Given the description of an element on the screen output the (x, y) to click on. 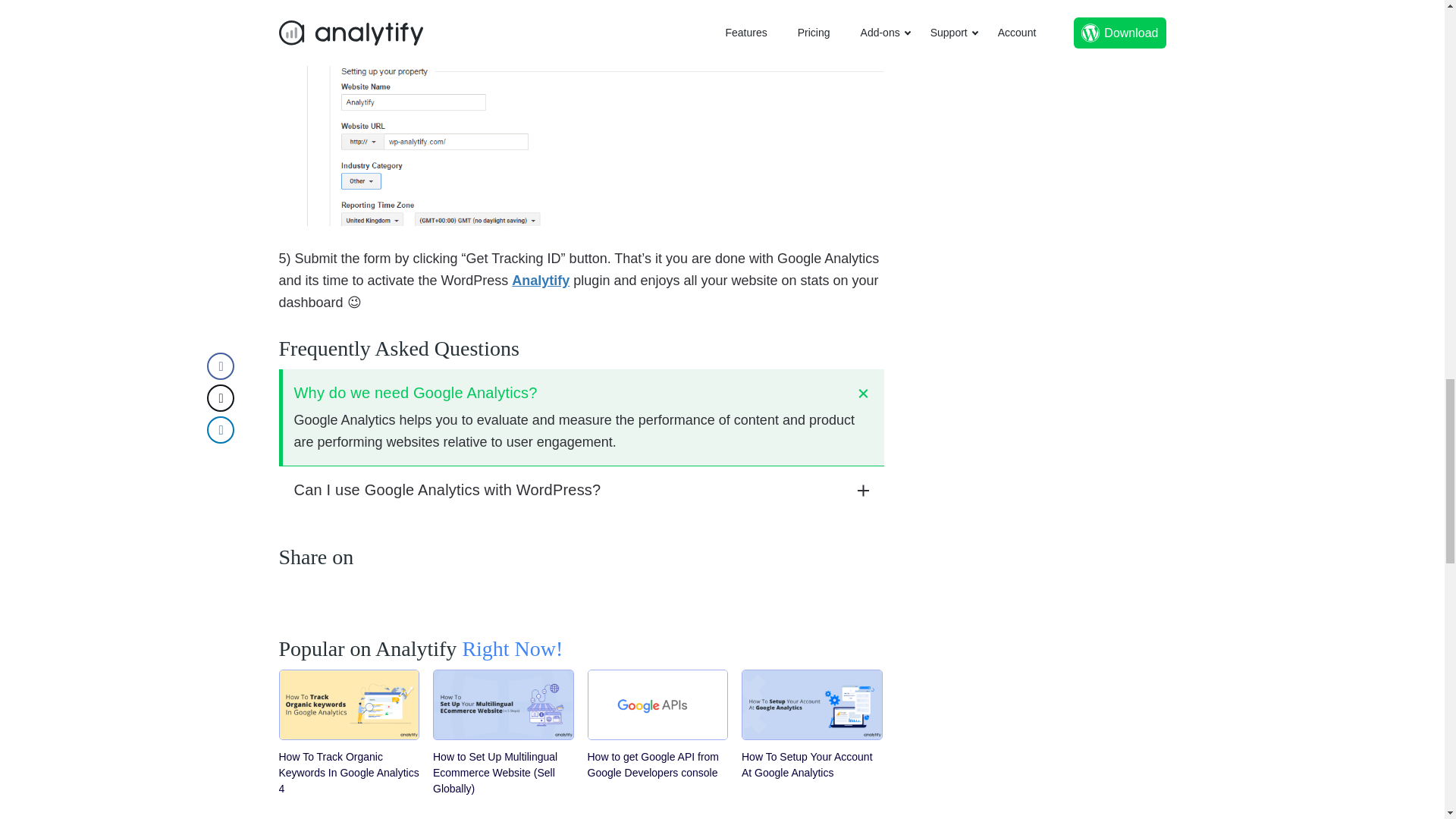
Analytify (540, 280)
